Given the description of an element on the screen output the (x, y) to click on. 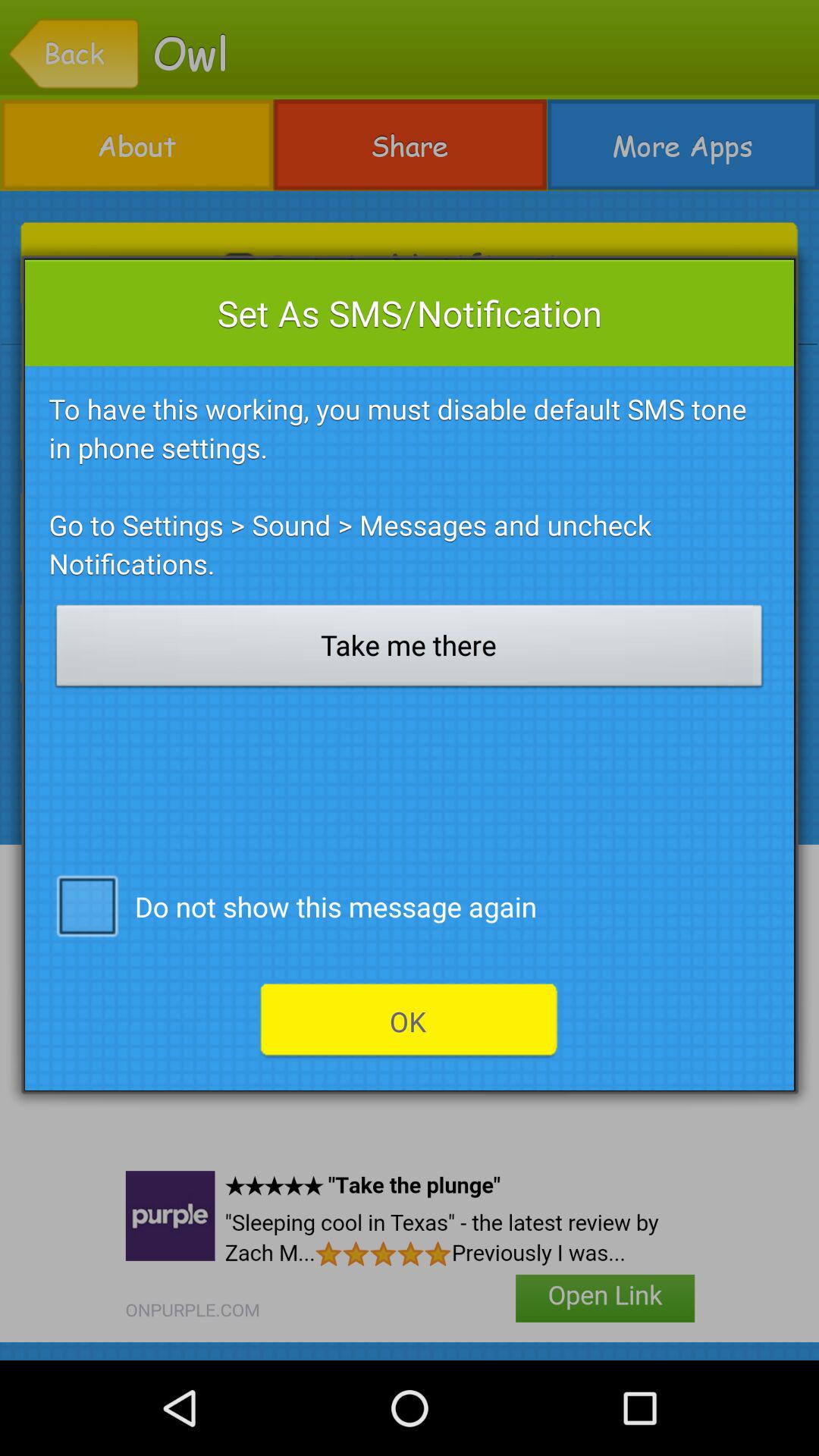
choose the take me there item (409, 649)
